Given the description of an element on the screen output the (x, y) to click on. 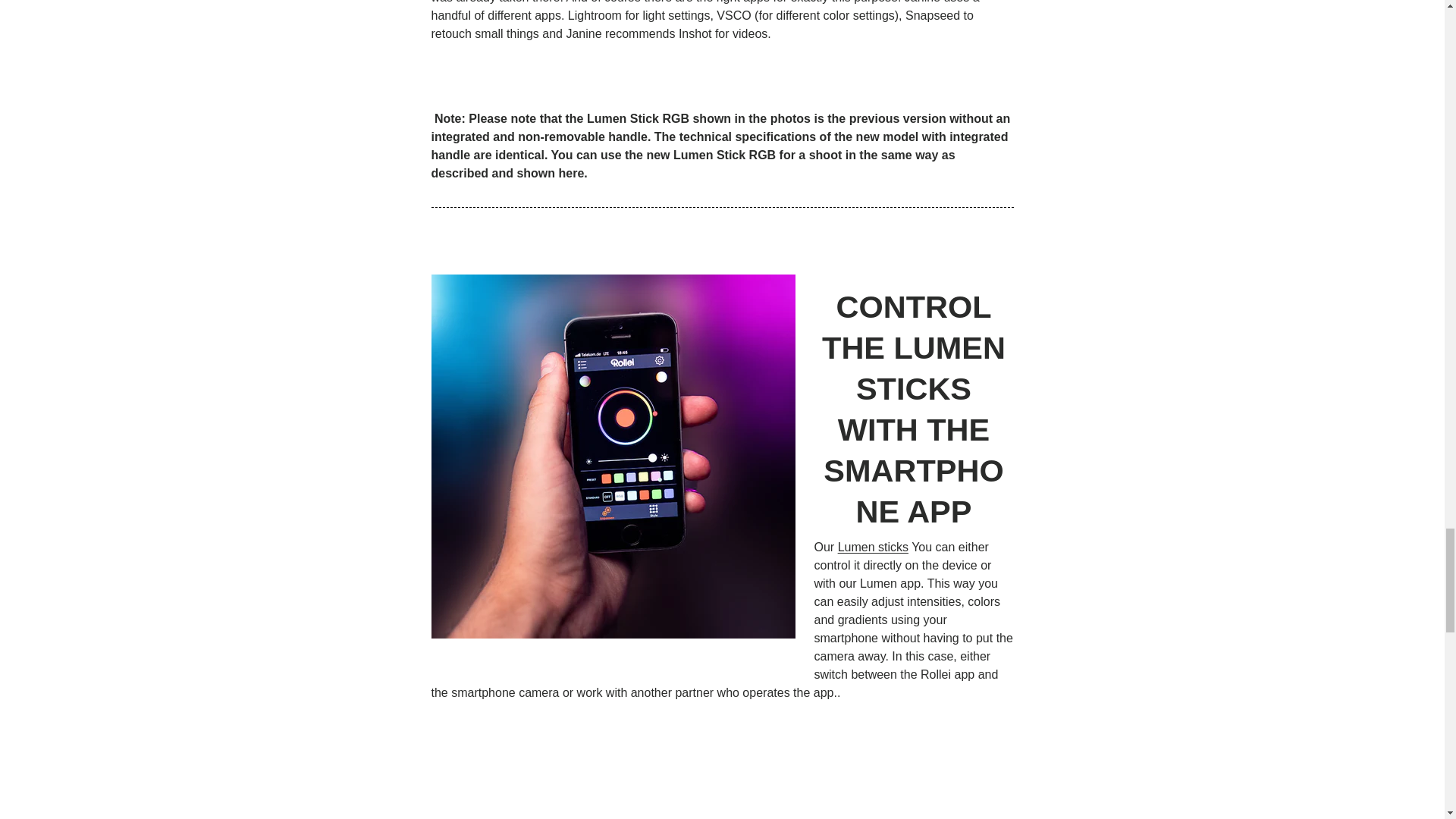
Lumen LED-Sticks von Rollei (873, 546)
